Given the description of an element on the screen output the (x, y) to click on. 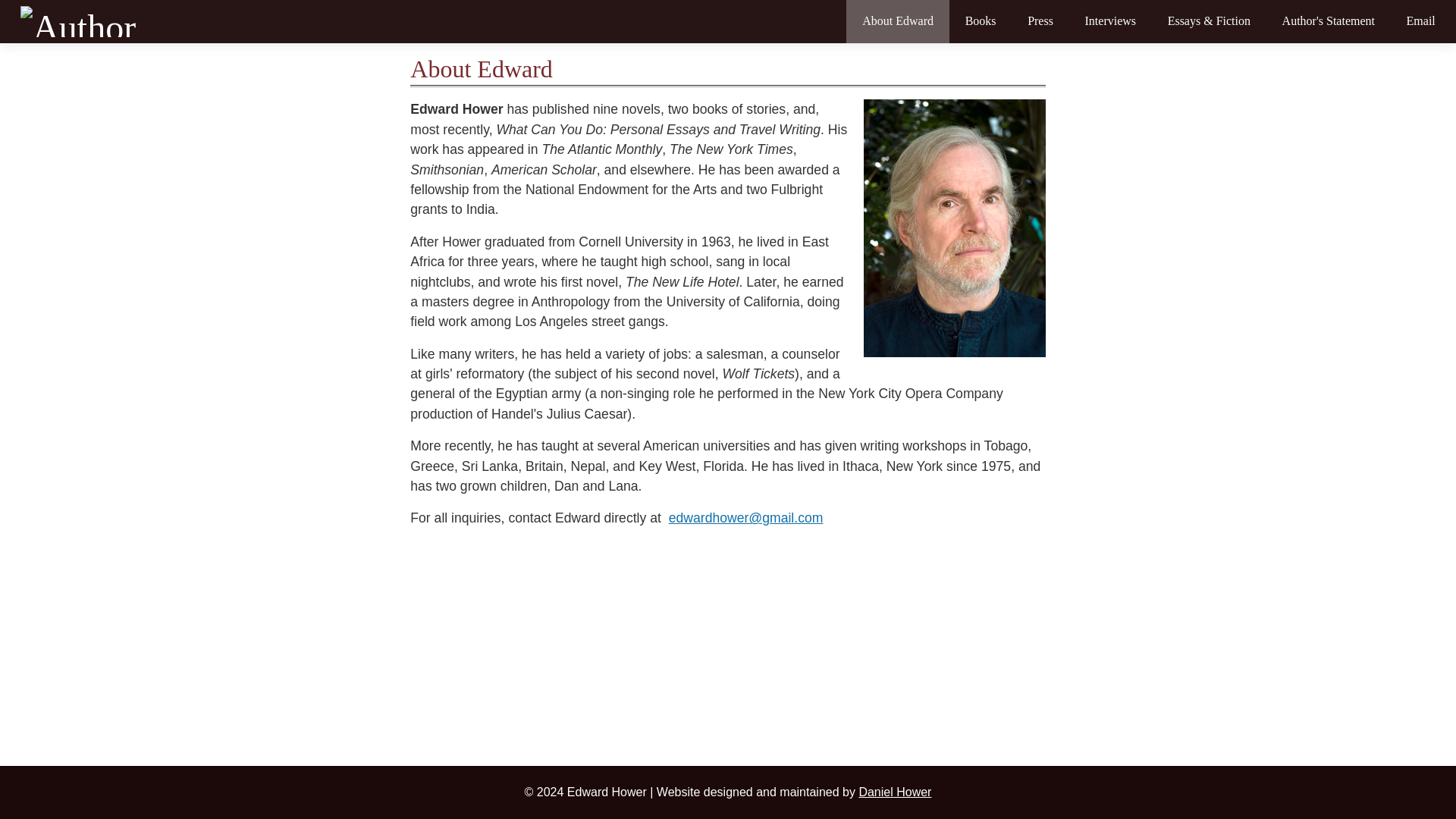
Email (1420, 21)
Author's Statement (1328, 21)
Daniel Hower (895, 791)
Press (1039, 21)
Interviews (1110, 21)
danielhower.com (895, 791)
Press (1039, 21)
About Edward Hower (897, 21)
About Edward (897, 21)
Books (981, 21)
